Given the description of an element on the screen output the (x, y) to click on. 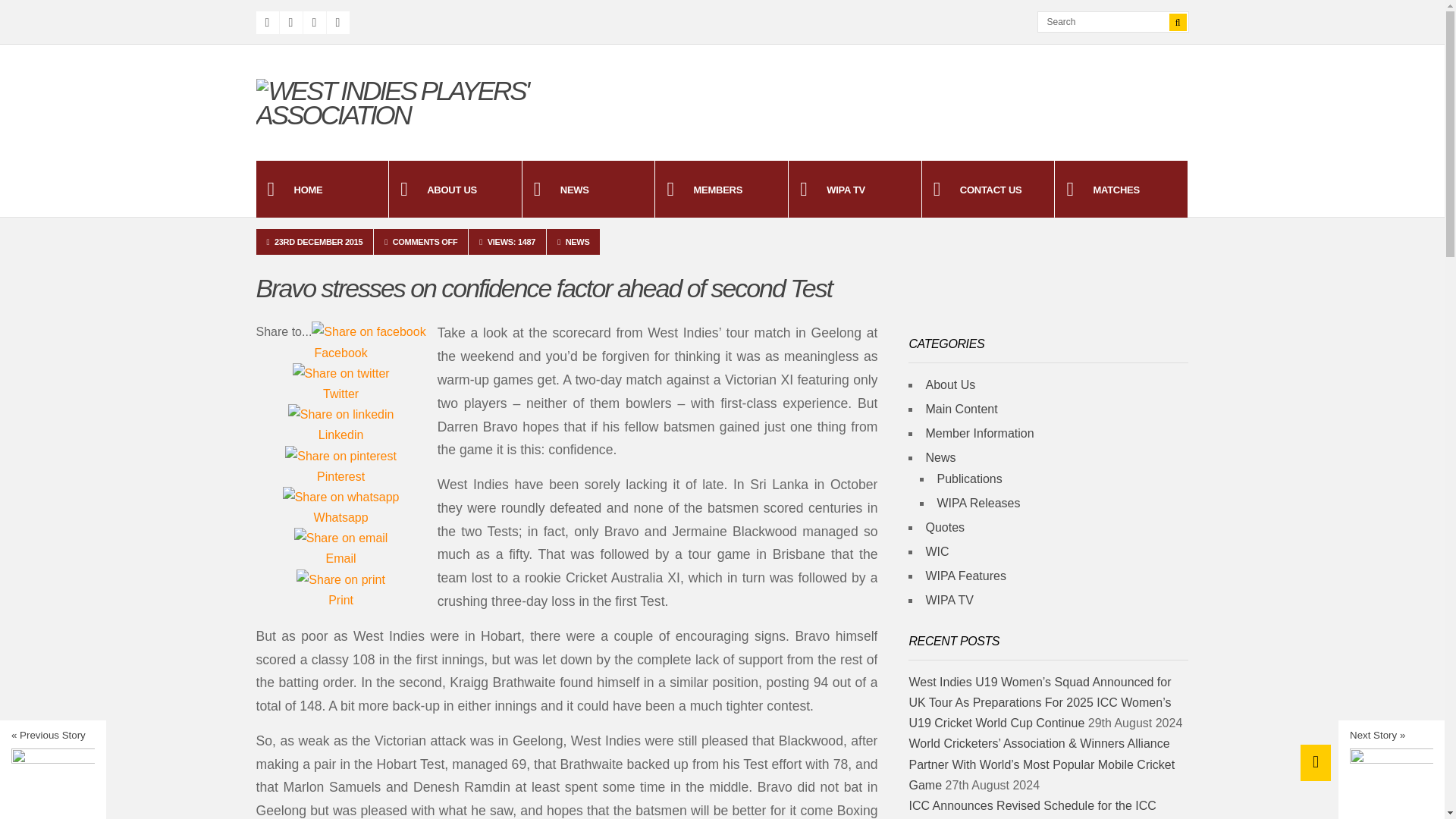
Facebook (341, 353)
Twitter (290, 22)
email (341, 537)
HOME (322, 188)
Pinterest (341, 476)
MATCHES (1121, 188)
twitter (341, 373)
Twitter (341, 394)
facebook (368, 331)
You Tube (337, 22)
